Given the description of an element on the screen output the (x, y) to click on. 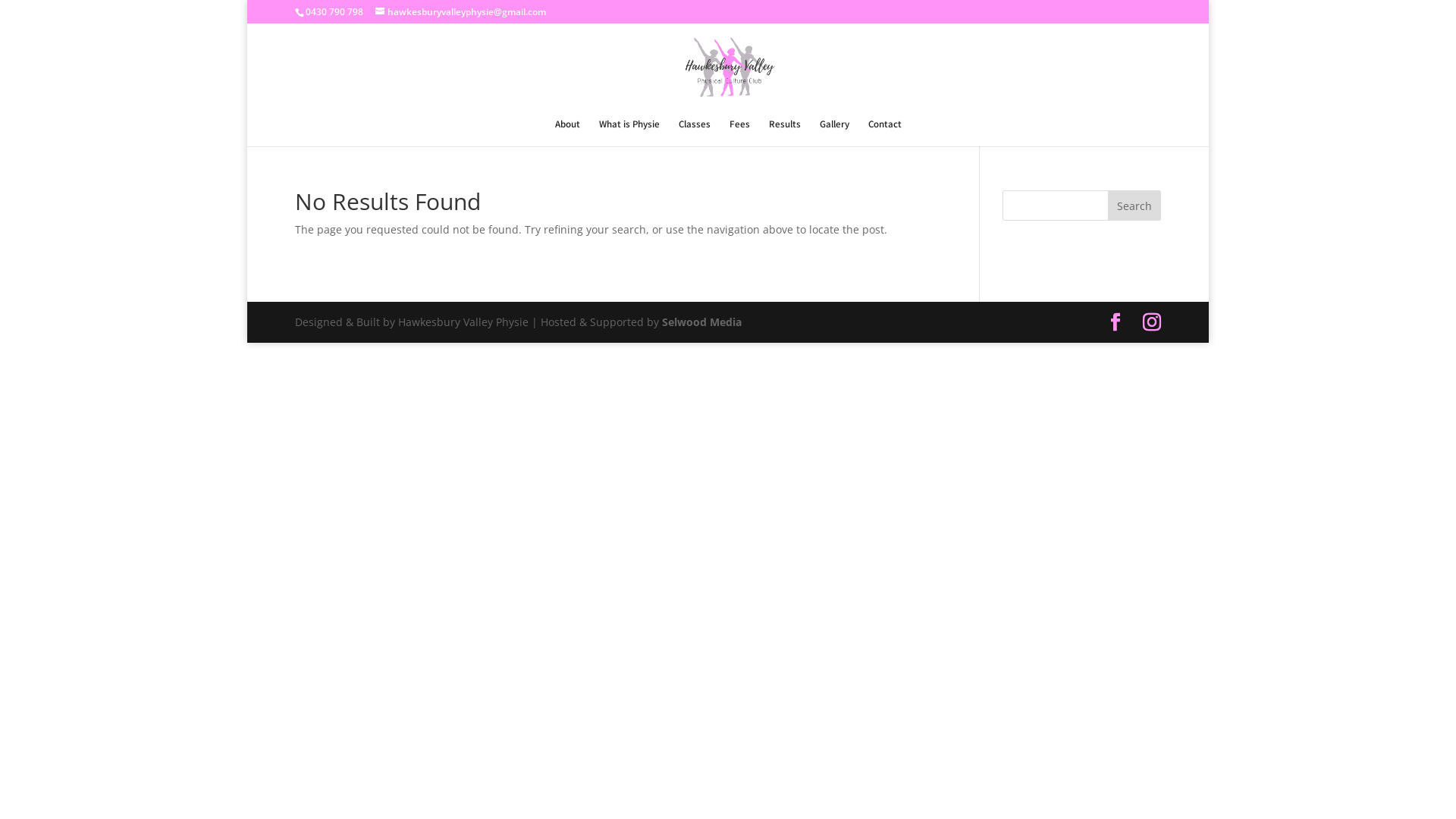
Selwood Media Element type: text (701, 321)
What is Physie Element type: text (629, 132)
Results Element type: text (784, 132)
Gallery Element type: text (833, 132)
Fees Element type: text (739, 132)
hawkesburyvalleyphysie@gmail.com Element type: text (460, 11)
Contact Element type: text (883, 132)
Search Element type: text (1134, 205)
Classes Element type: text (693, 132)
About Element type: text (567, 132)
